Given the description of an element on the screen output the (x, y) to click on. 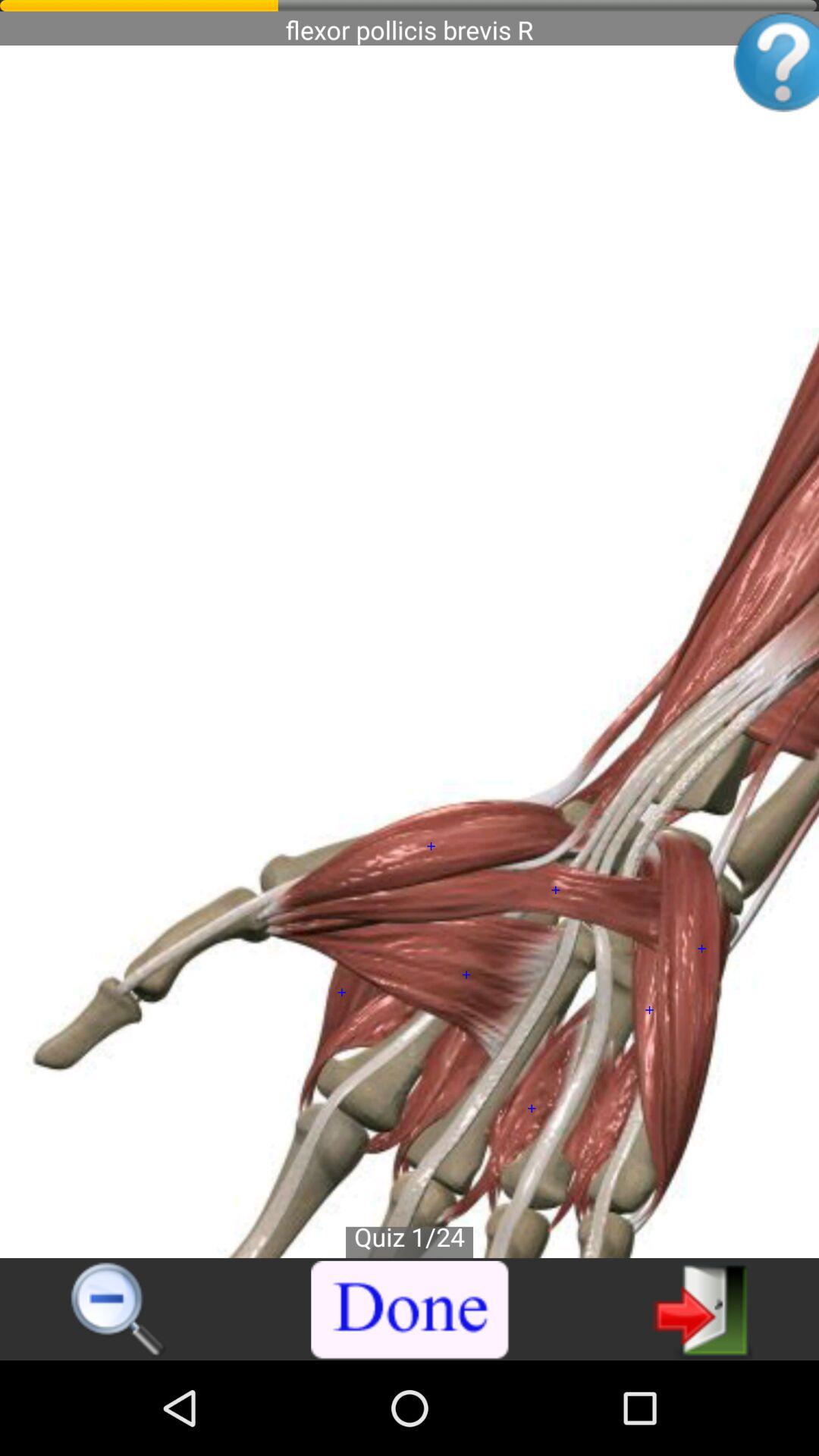
exit app (702, 1309)
